Given the description of an element on the screen output the (x, y) to click on. 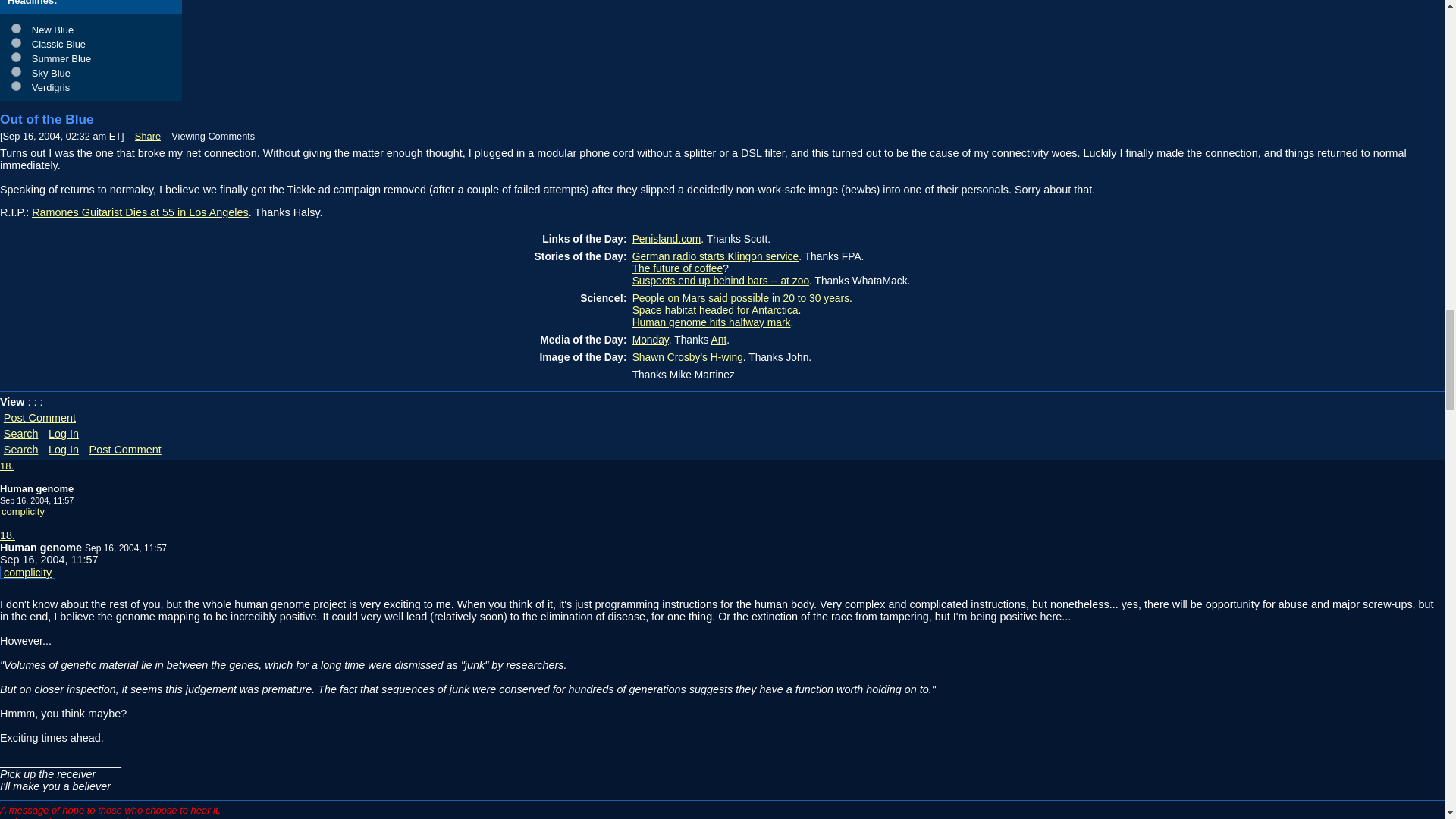
Search this Forum (21, 432)
Log In (63, 449)
Post a new Comment (40, 417)
Post a new Comment (125, 449)
Posts: 1822 ; Rank: Pro (23, 511)
Posts: 1822 ; Rank: Pro (27, 572)
Log In (63, 432)
Search this Forum (21, 449)
